Given the description of an element on the screen output the (x, y) to click on. 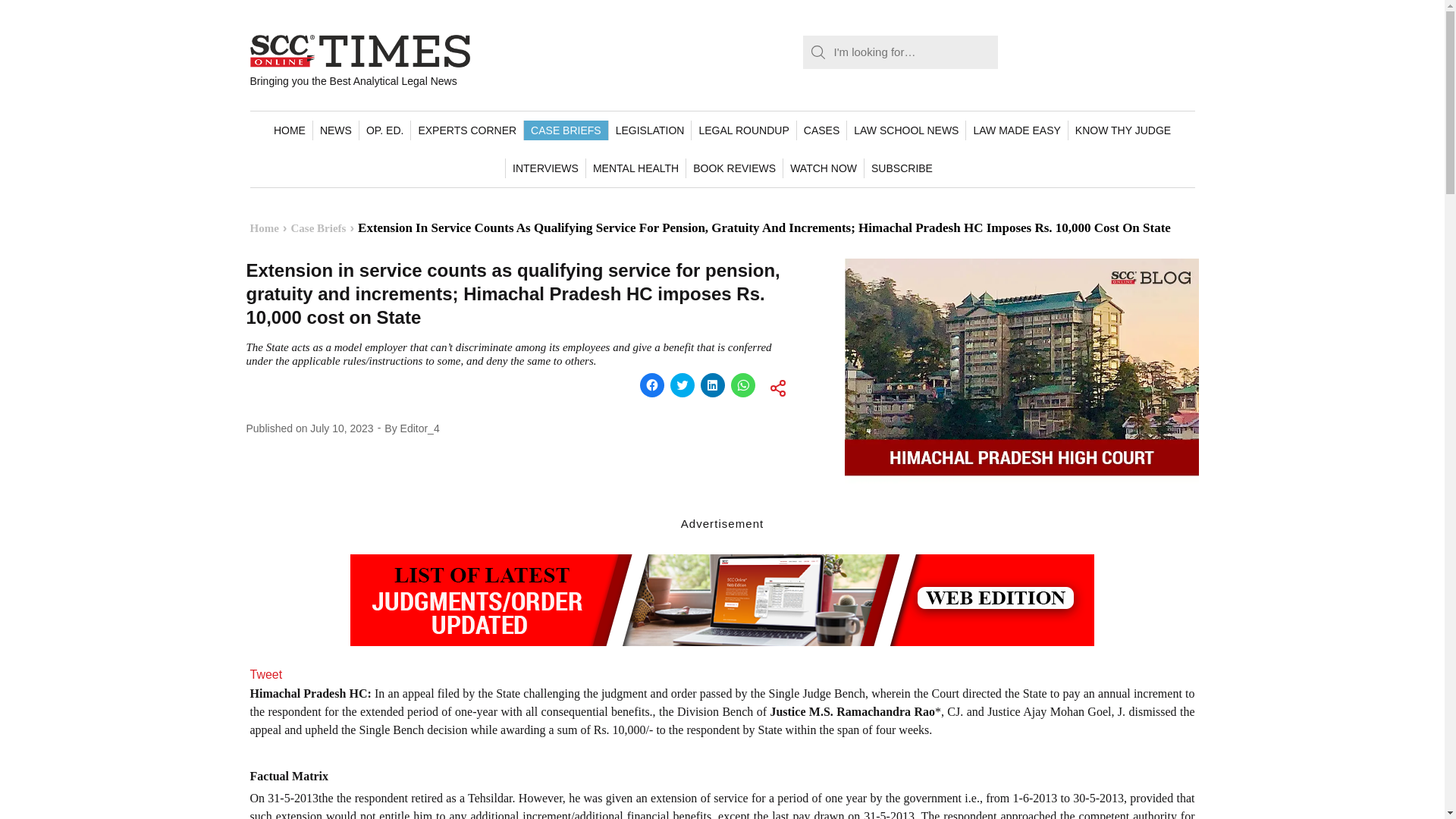
NEWS (335, 130)
OP. ED. (384, 130)
HOME (289, 130)
EXPERTS CORNER (466, 130)
Click to share on Facebook (651, 385)
CASE BRIEFS (565, 130)
Click to share on LinkedIn (712, 385)
Click to share on Twitter (681, 385)
Click to share on WhatsApp (742, 385)
